Given the description of an element on the screen output the (x, y) to click on. 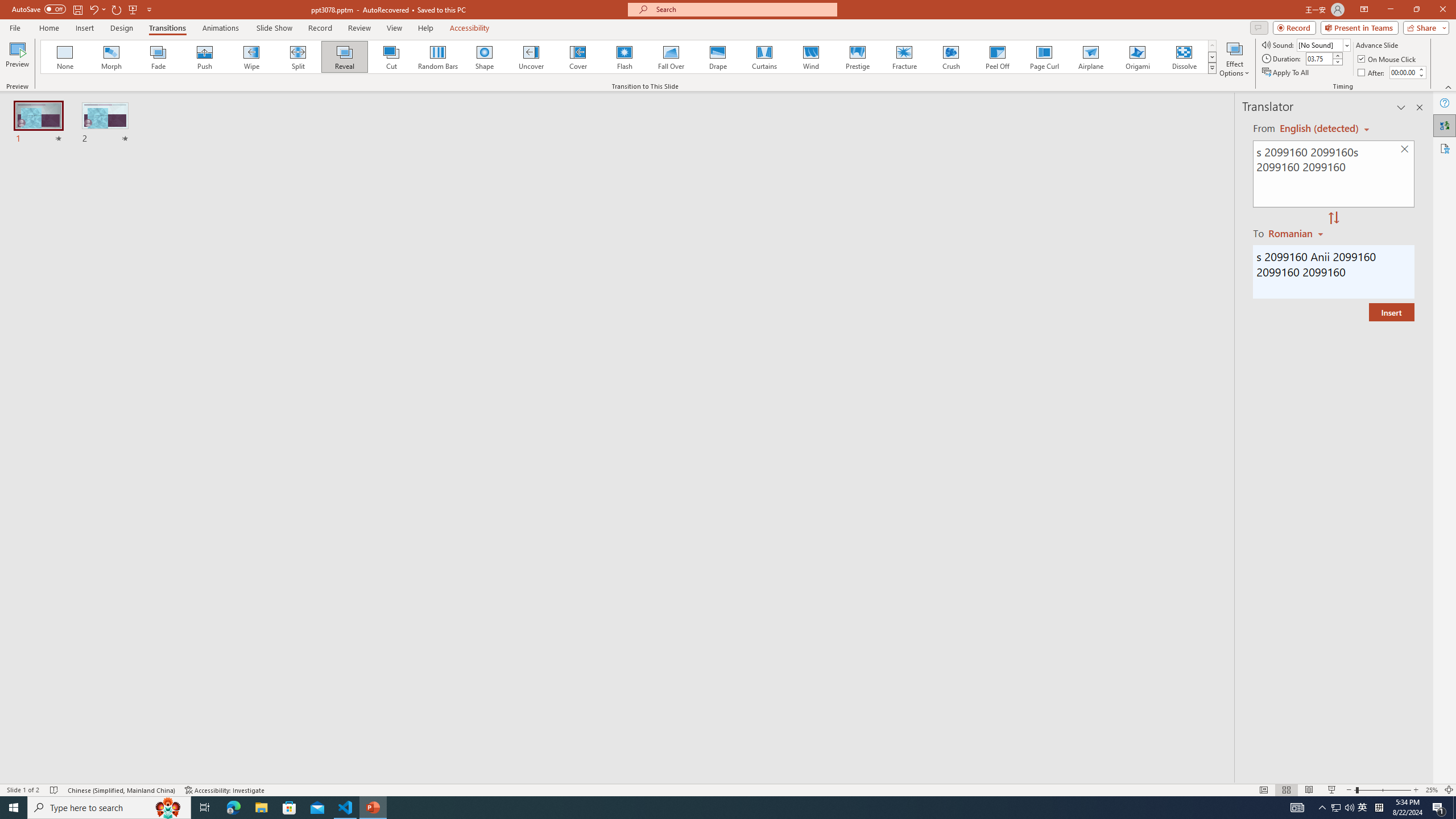
Push (205, 56)
Airplane (1090, 56)
